Given the description of an element on the screen output the (x, y) to click on. 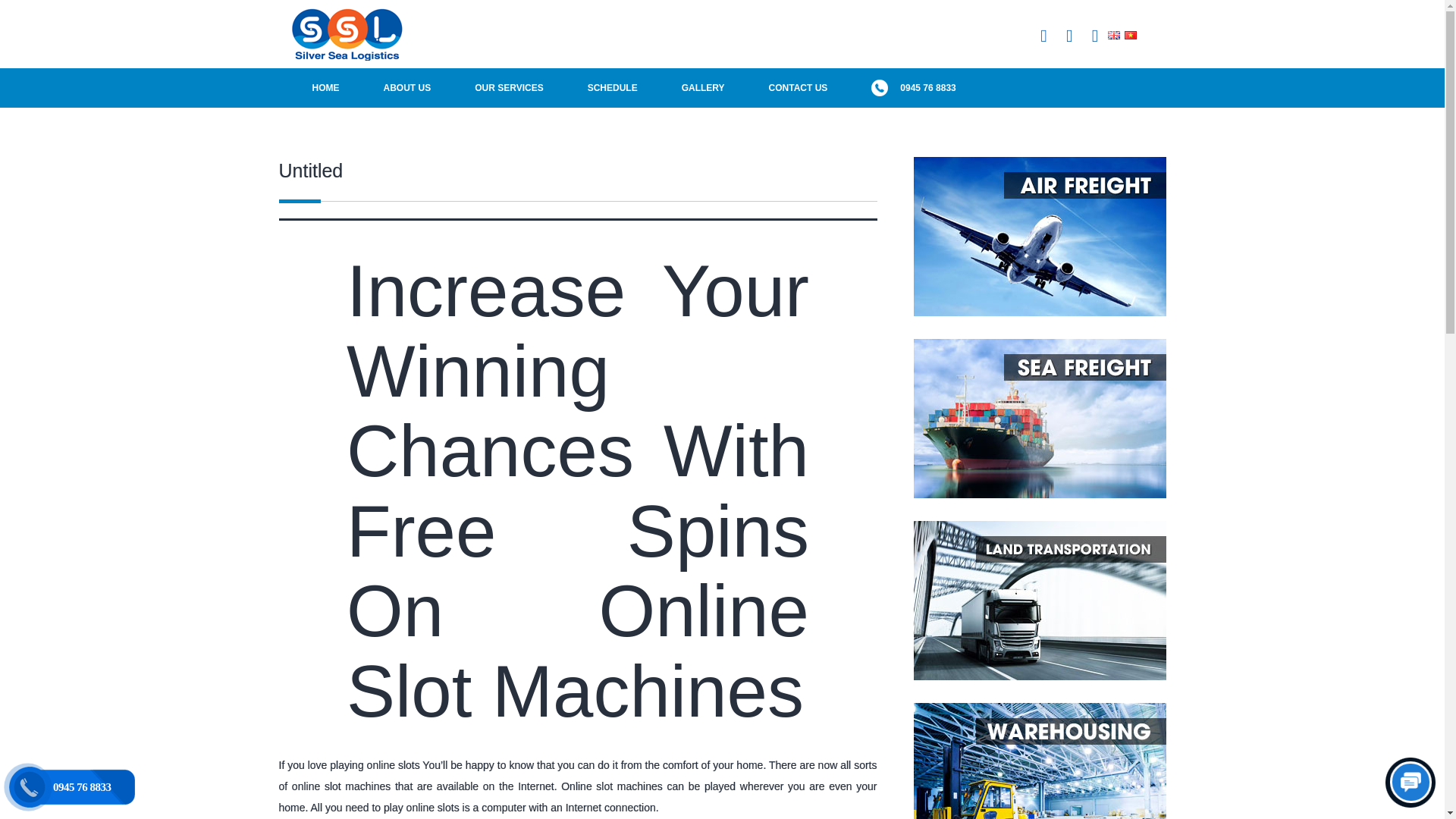
OUR SERVICES (508, 87)
HOME (325, 87)
SCHEDULE (612, 87)
ABOUT US (406, 87)
